Given the description of an element on the screen output the (x, y) to click on. 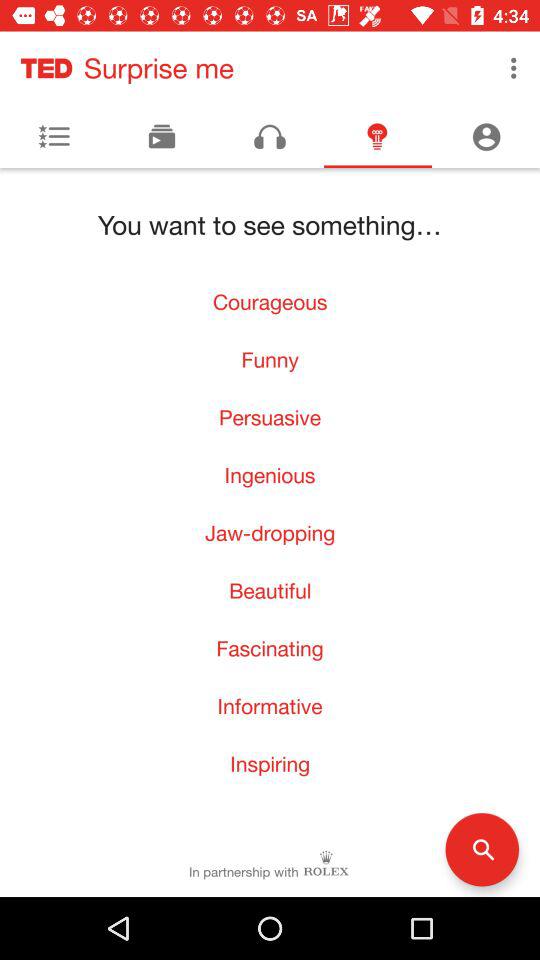
press the item above fascinating icon (270, 590)
